Given the description of an element on the screen output the (x, y) to click on. 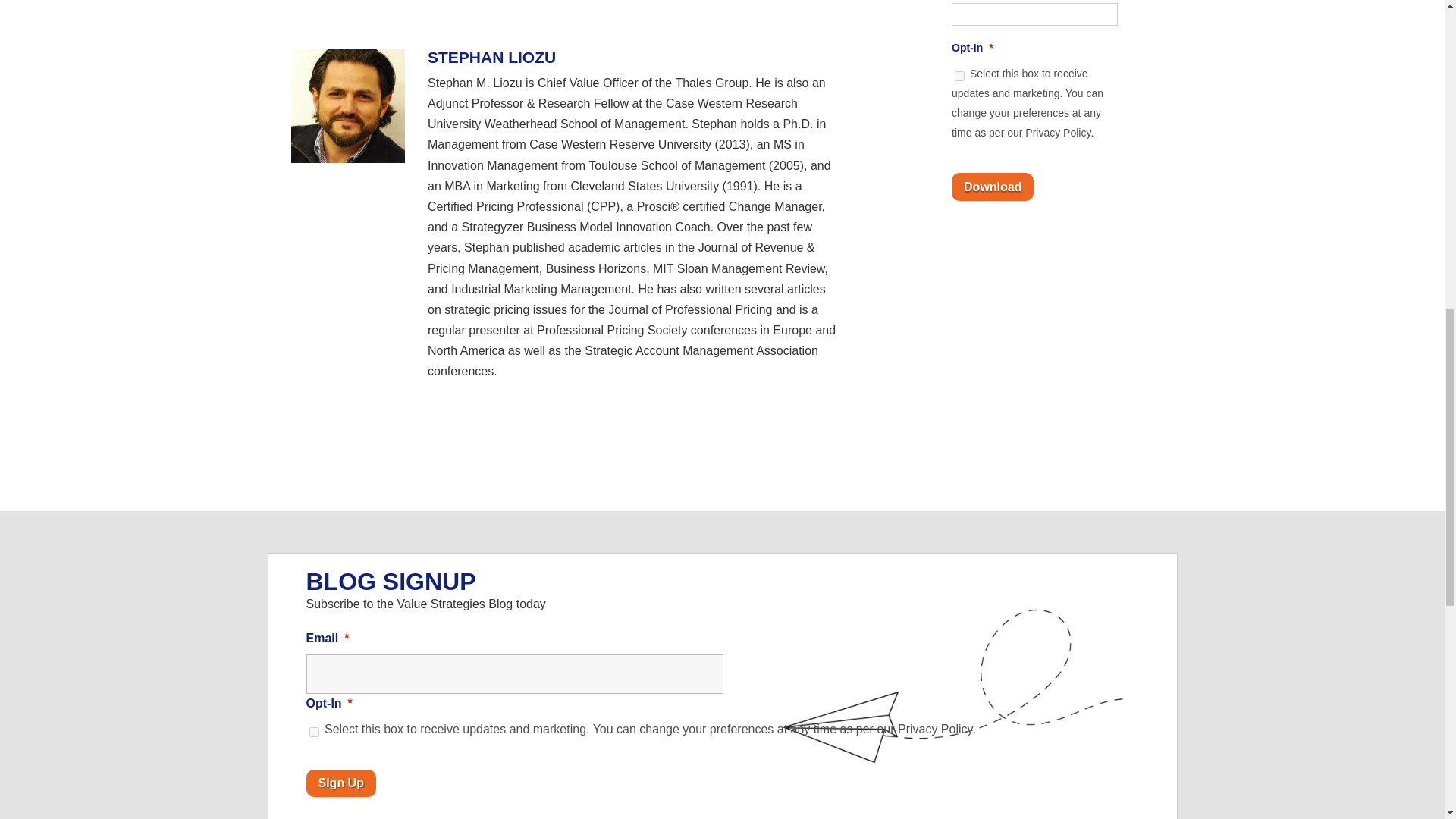
Download (992, 186)
1 (959, 76)
Sign Up (340, 783)
Best Practices for Accelerating Your Value Strategy (565, 12)
1 (313, 732)
